Given the description of an element on the screen output the (x, y) to click on. 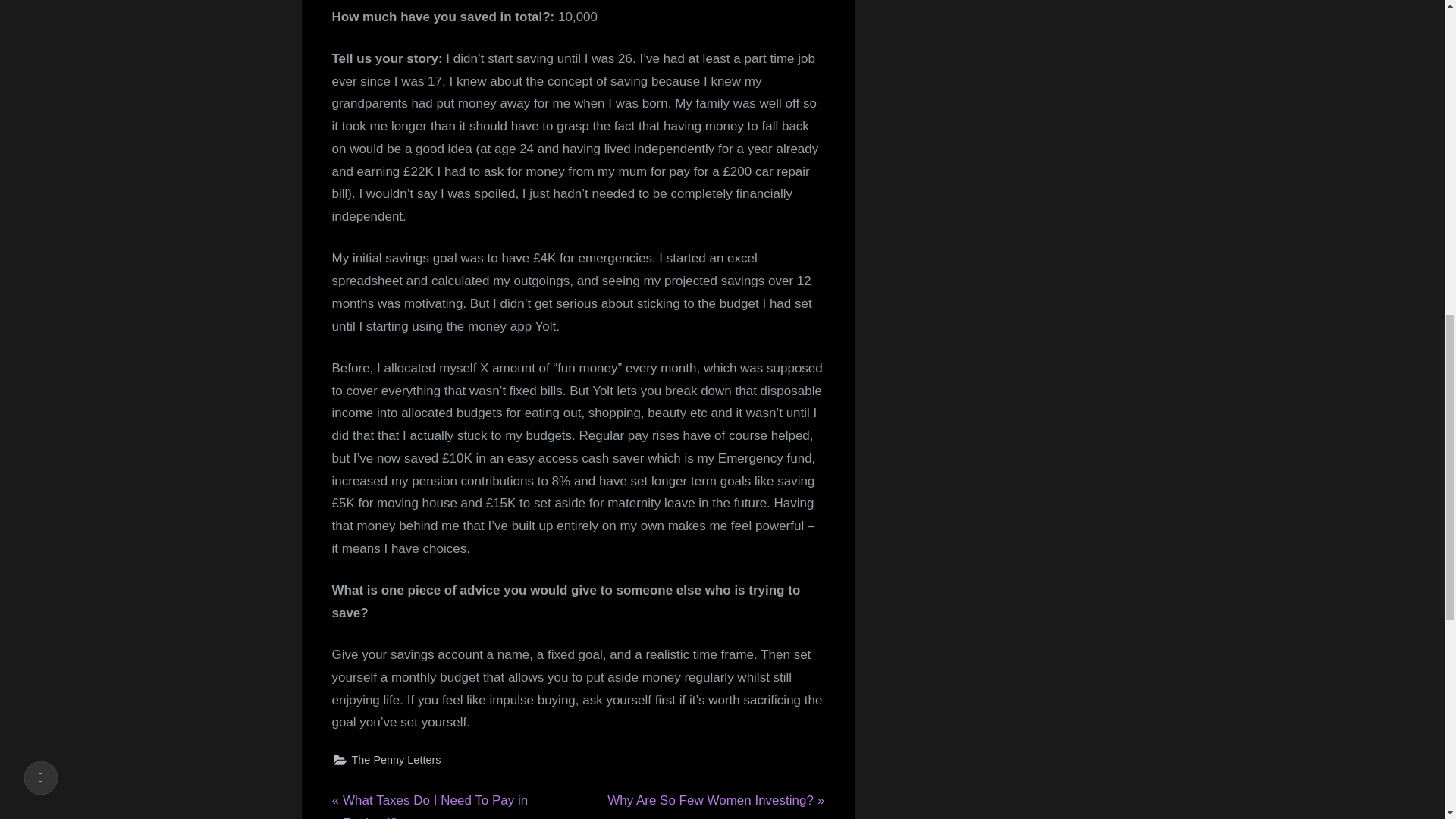
The Penny Letters (715, 800)
